Given the description of an element on the screen output the (x, y) to click on. 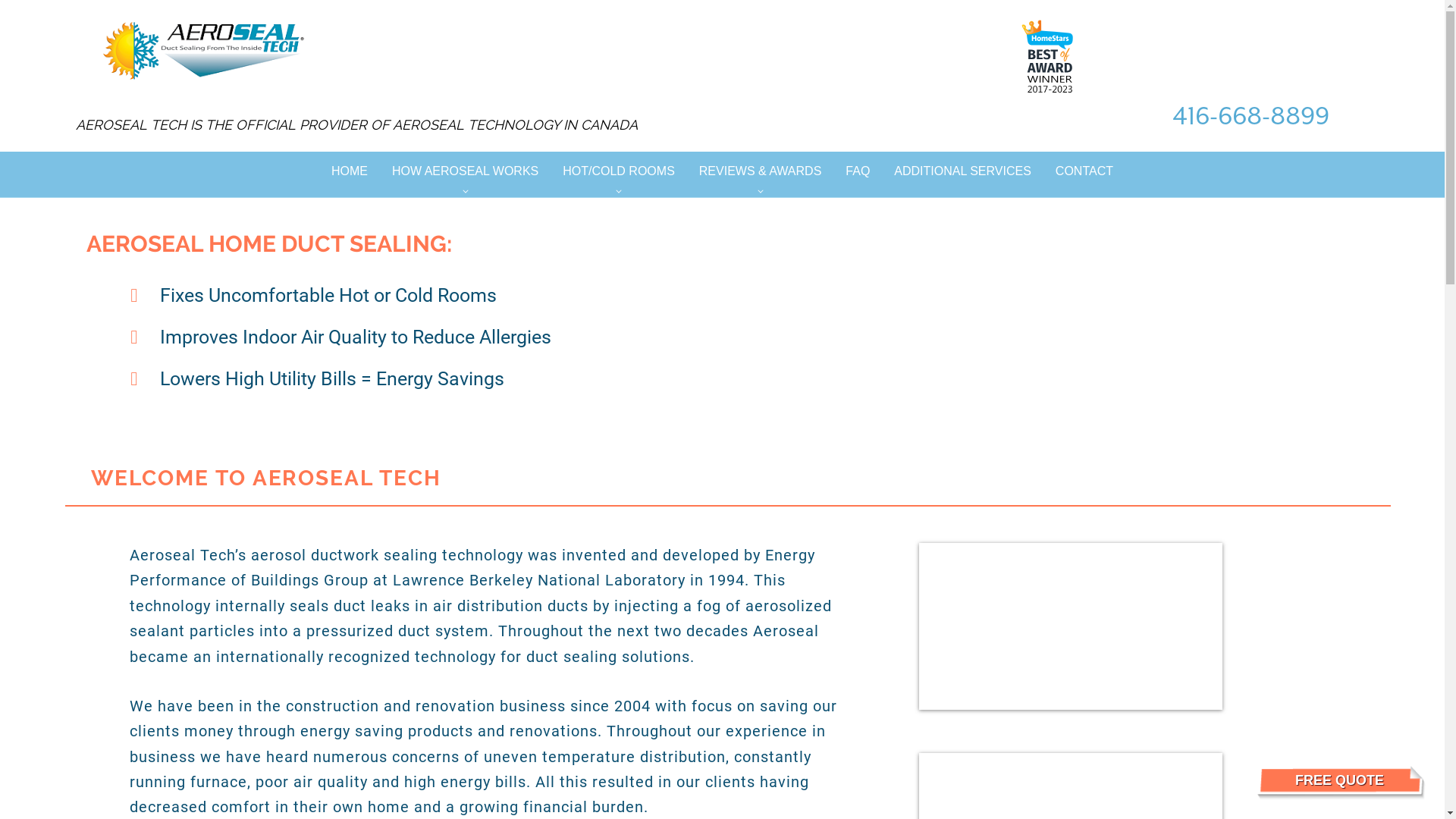
CONTACT Element type: text (1084, 171)
HOW AEROSEAL WORKS Element type: text (464, 171)
ADDITIONAL SERVICES Element type: text (962, 171)
REVIEWS & AWARDS Element type: text (760, 171)
FAQ Element type: text (857, 171)
HOT/COLD ROOMS Element type: text (618, 171)
Aeroseal - Duct sealing - Aeroseal Tech  Element type: hover (203, 51)
416-668-8899 Element type: text (1250, 115)
Aeroseal - Duct sealing - Aeroseal Tech  Element type: hover (1047, 56)
HOME Element type: text (349, 171)
FREE QUOTE Element type: text (1339, 779)
